Given the description of an element on the screen output the (x, y) to click on. 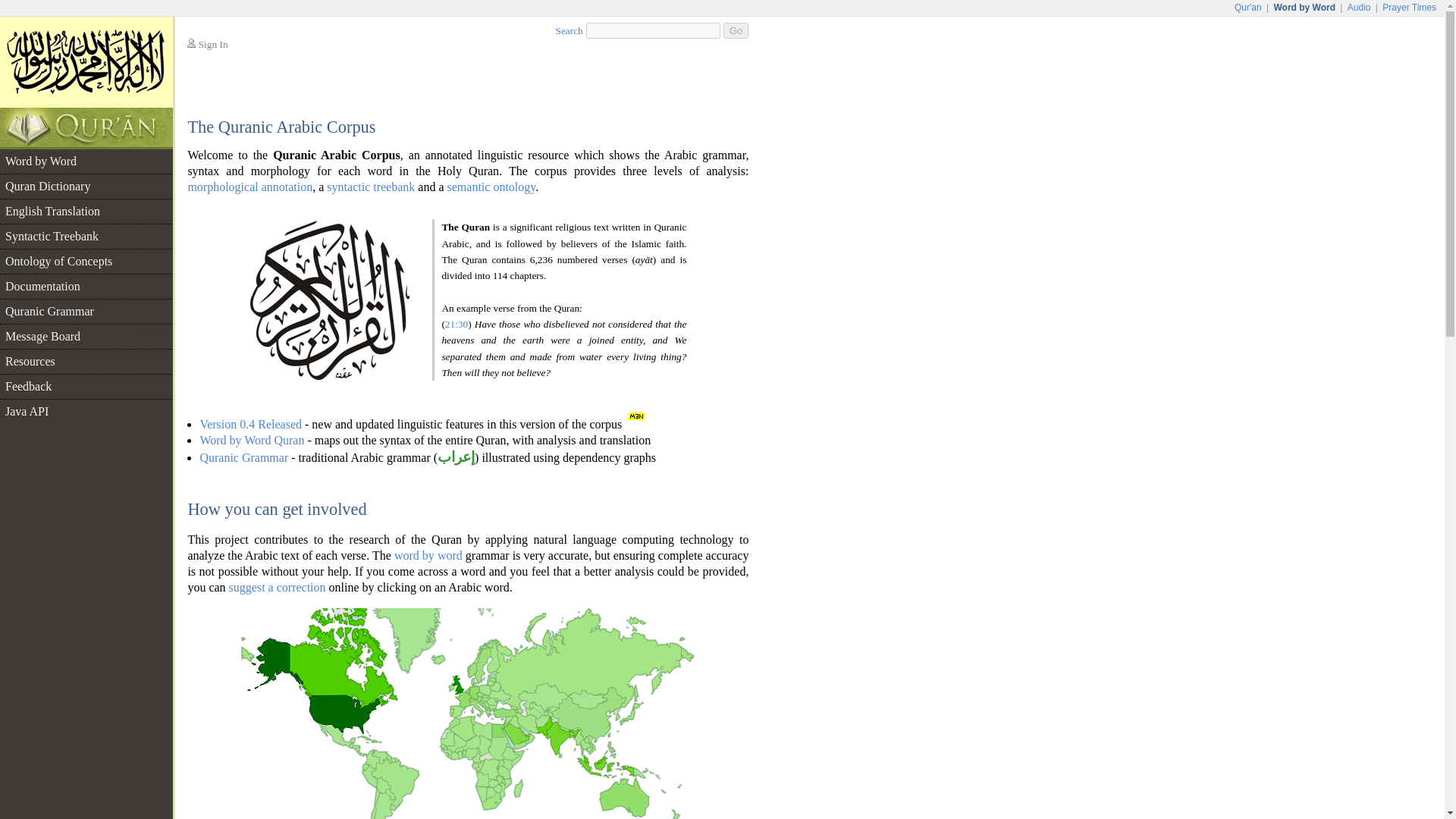
Java API (86, 411)
21:30 (456, 324)
Feedback (86, 386)
Sign In (213, 43)
Version 0.4 Released (250, 423)
suggest a correction (277, 586)
Search (569, 30)
Quran Dictionary (86, 186)
Audio (1359, 7)
Go (736, 30)
word by word (428, 554)
syntactic treebank (370, 186)
Ontology of Concepts (86, 261)
Quranic Grammar (86, 311)
Qur'an (1247, 7)
